Given the description of an element on the screen output the (x, y) to click on. 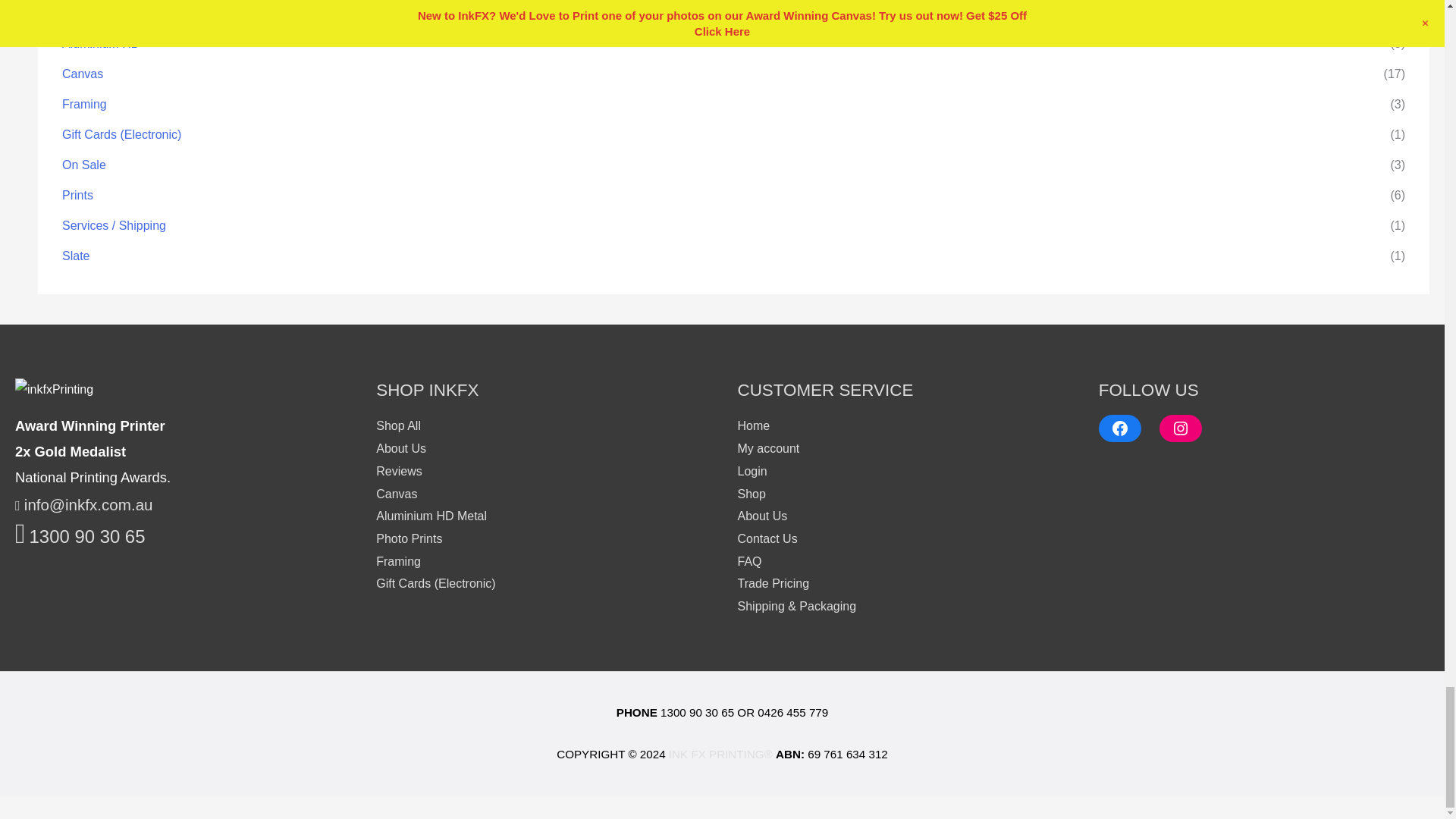
inkfxPrinting (53, 389)
Call Now (79, 537)
Email Now (83, 505)
